Given the description of an element on the screen output the (x, y) to click on. 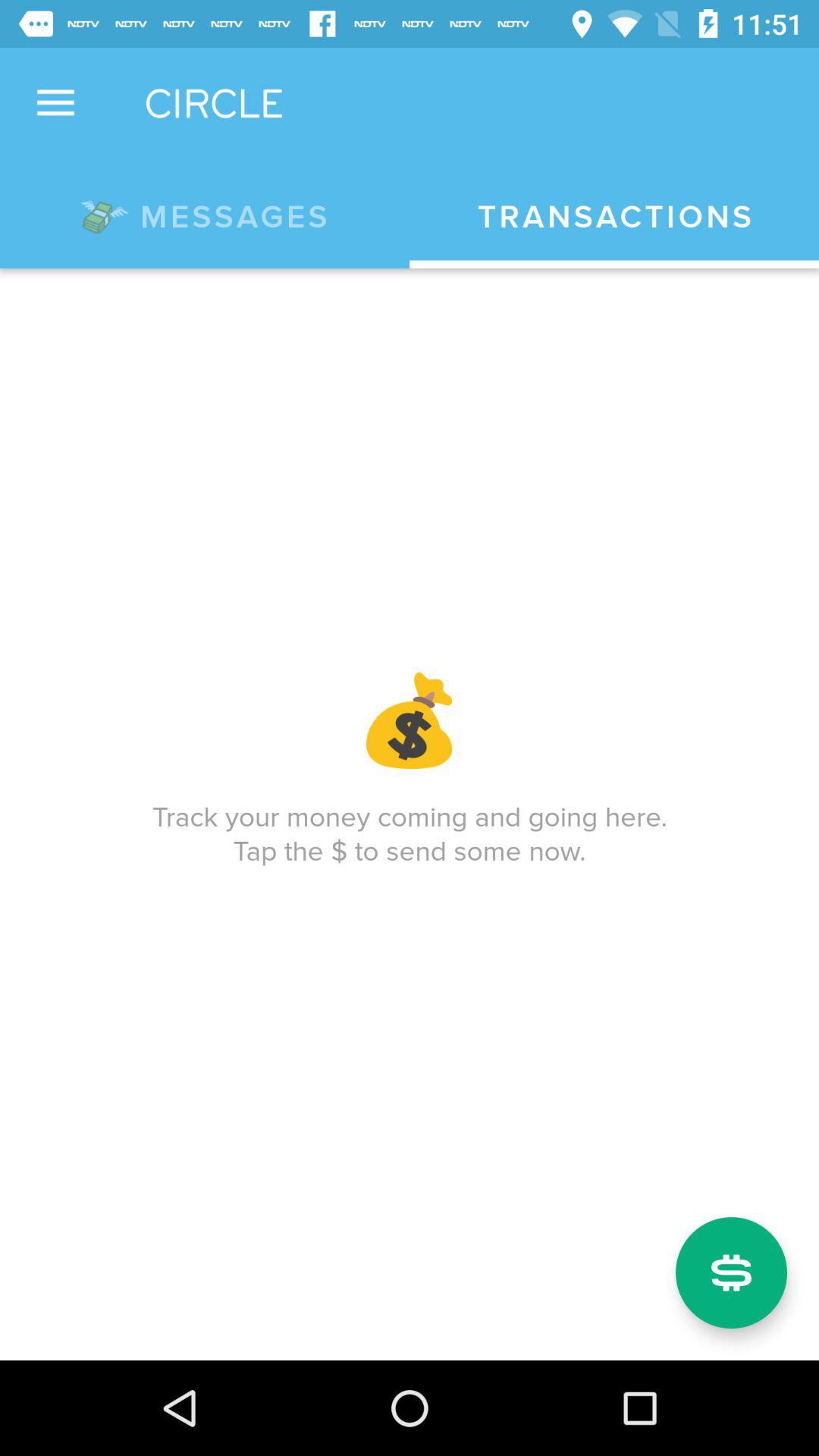
turn off the icon to the left of transactions (204, 213)
